Given the description of an element on the screen output the (x, y) to click on. 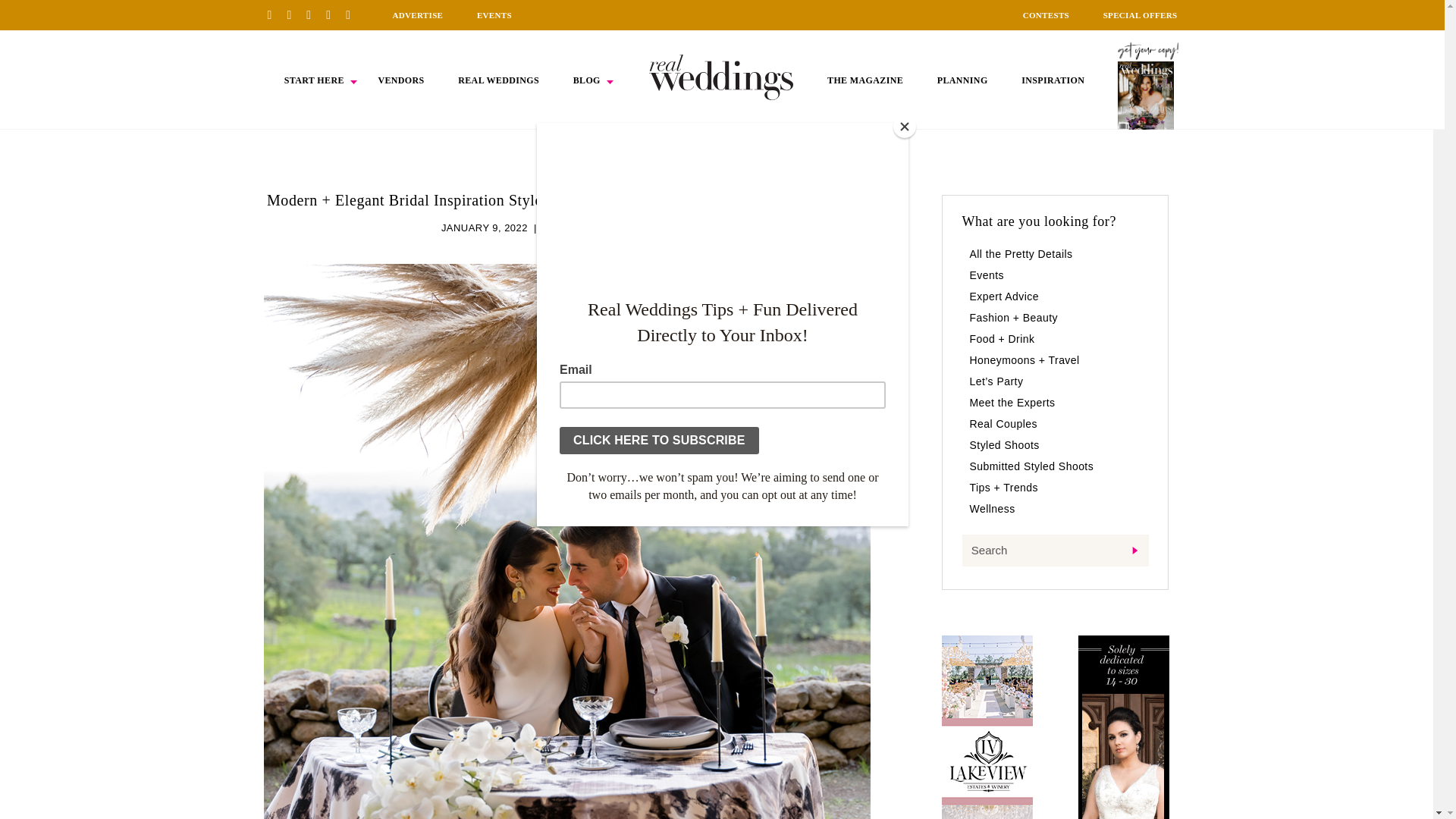
HOME (721, 76)
EVENTS (494, 14)
REAL WEDDINGS (498, 80)
THE MAGAZINE (864, 80)
CONTESTS (1045, 14)
PLANNING (962, 80)
SPECIAL OFFERS (1140, 14)
BLOG (586, 80)
INSPIRATION (1053, 80)
VENDORS (400, 80)
ADVERTISE (416, 14)
SUBMITTED STYLED SHOOTS (618, 227)
START HERE (313, 80)
Instagram (313, 14)
Facebook (294, 14)
